Given the description of an element on the screen output the (x, y) to click on. 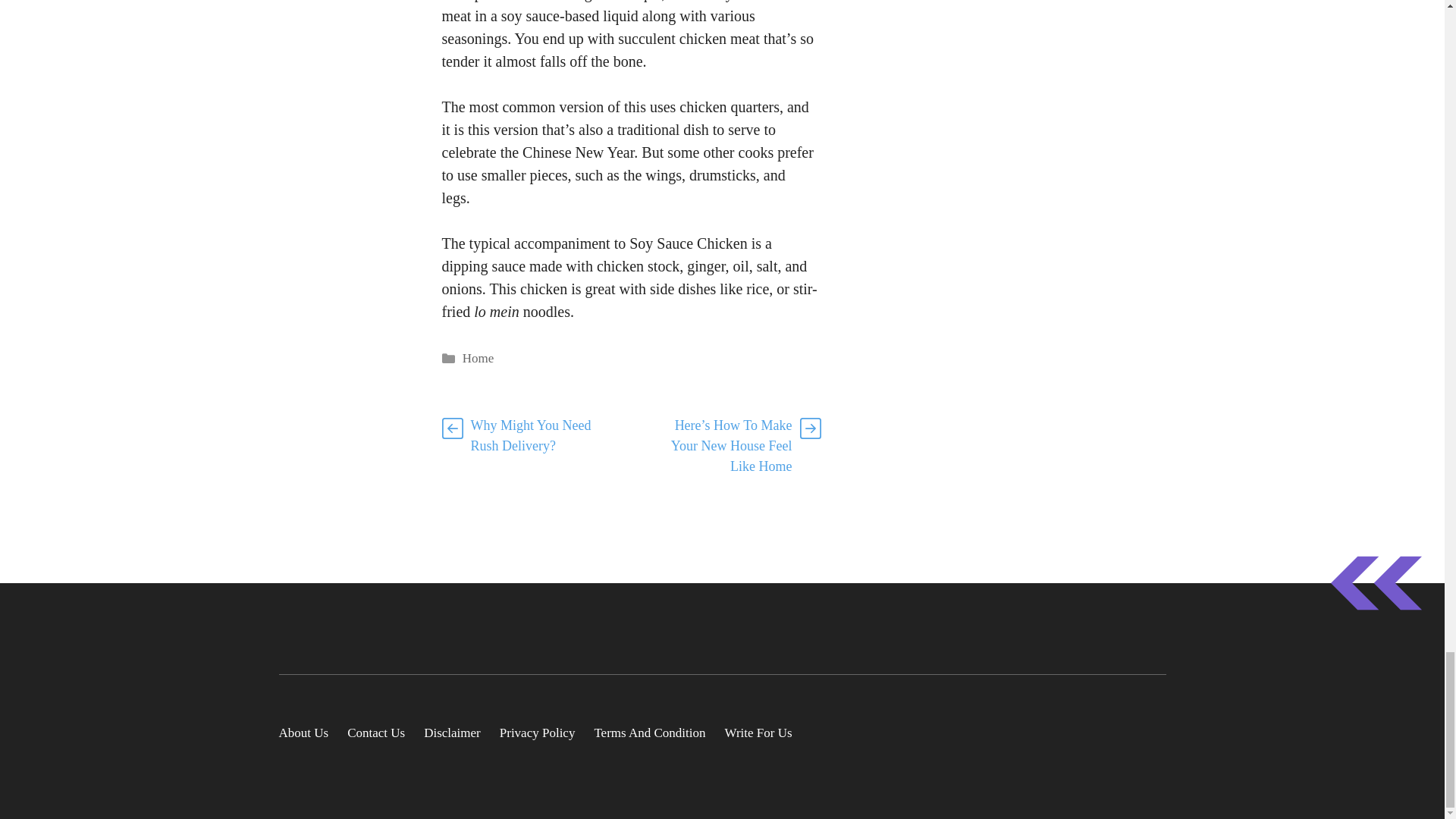
Why Might You Need Rush Delivery? (530, 435)
Home (479, 358)
